Given the description of an element on the screen output the (x, y) to click on. 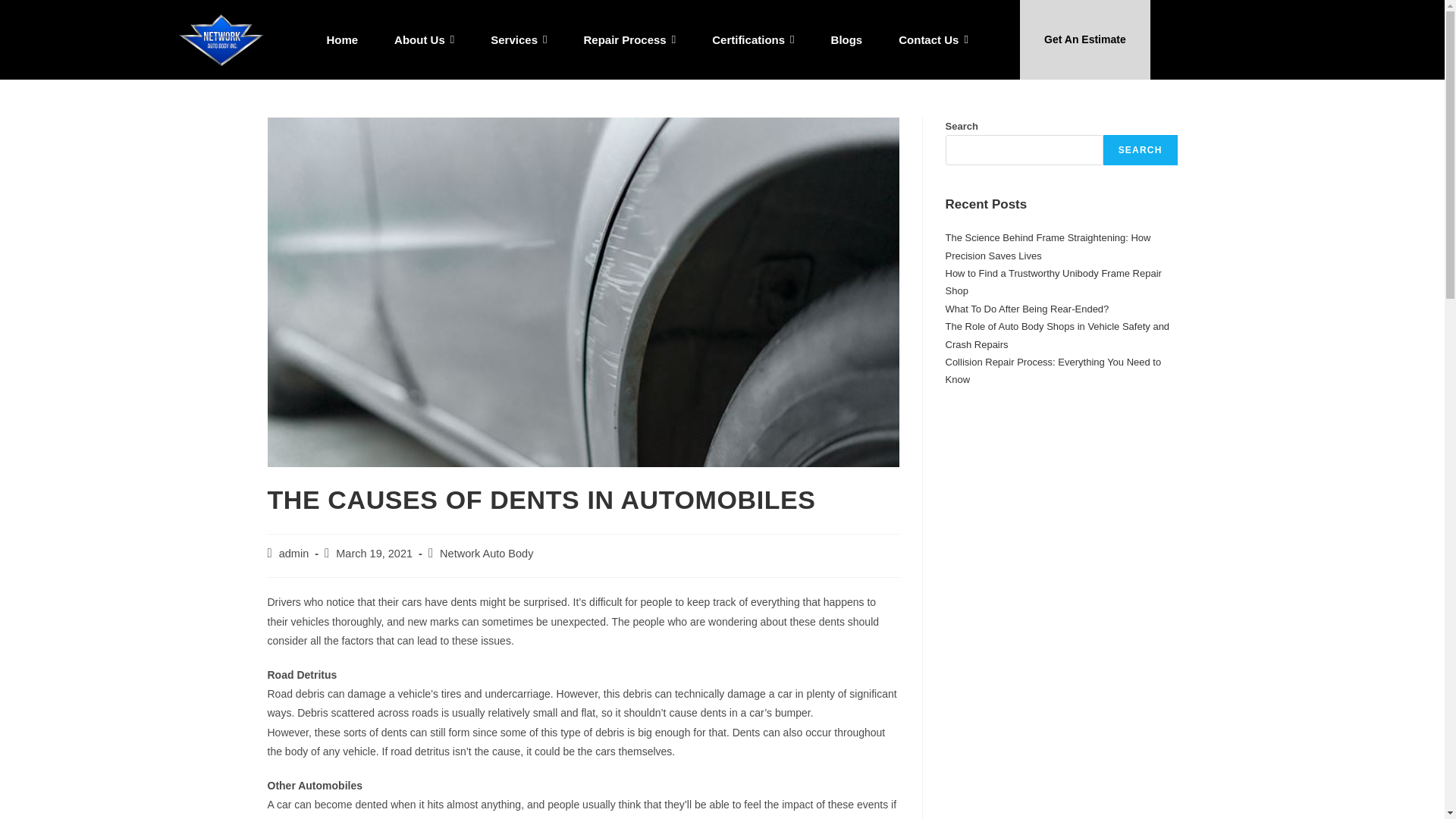
Services (518, 39)
Home (341, 39)
Repair Process (628, 39)
About Us (424, 39)
Posts by admin (293, 553)
Certifications (753, 39)
